Given the description of an element on the screen output the (x, y) to click on. 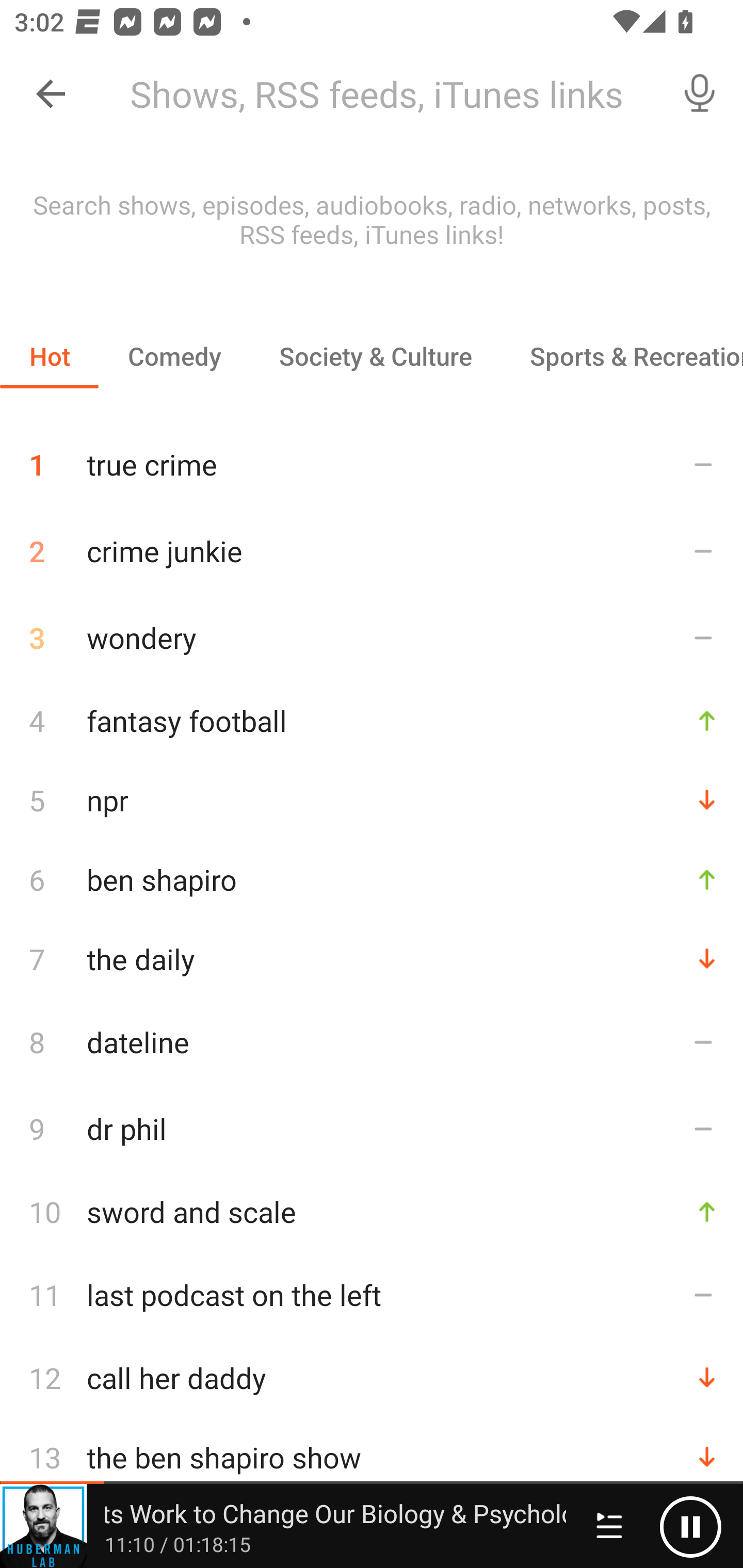
Collapse (50, 93)
Voice Search (699, 93)
Shows, RSS feeds, iTunes links (385, 94)
Hot (49, 355)
Comedy (173, 355)
Society & Culture (374, 355)
Sports & Recreation (621, 355)
1 true crime (371, 457)
2 crime junkie (371, 551)
3 wondery (371, 637)
4 fantasy football (371, 720)
5 npr (371, 800)
6 ben shapiro (371, 879)
7 the daily (371, 958)
8 dateline (371, 1041)
9 dr phil (371, 1128)
10 sword and scale (371, 1211)
11 last podcast on the left (371, 1294)
12 call her daddy (371, 1377)
13 the ben shapiro show (371, 1457)
Pause (690, 1526)
